Given the description of an element on the screen output the (x, y) to click on. 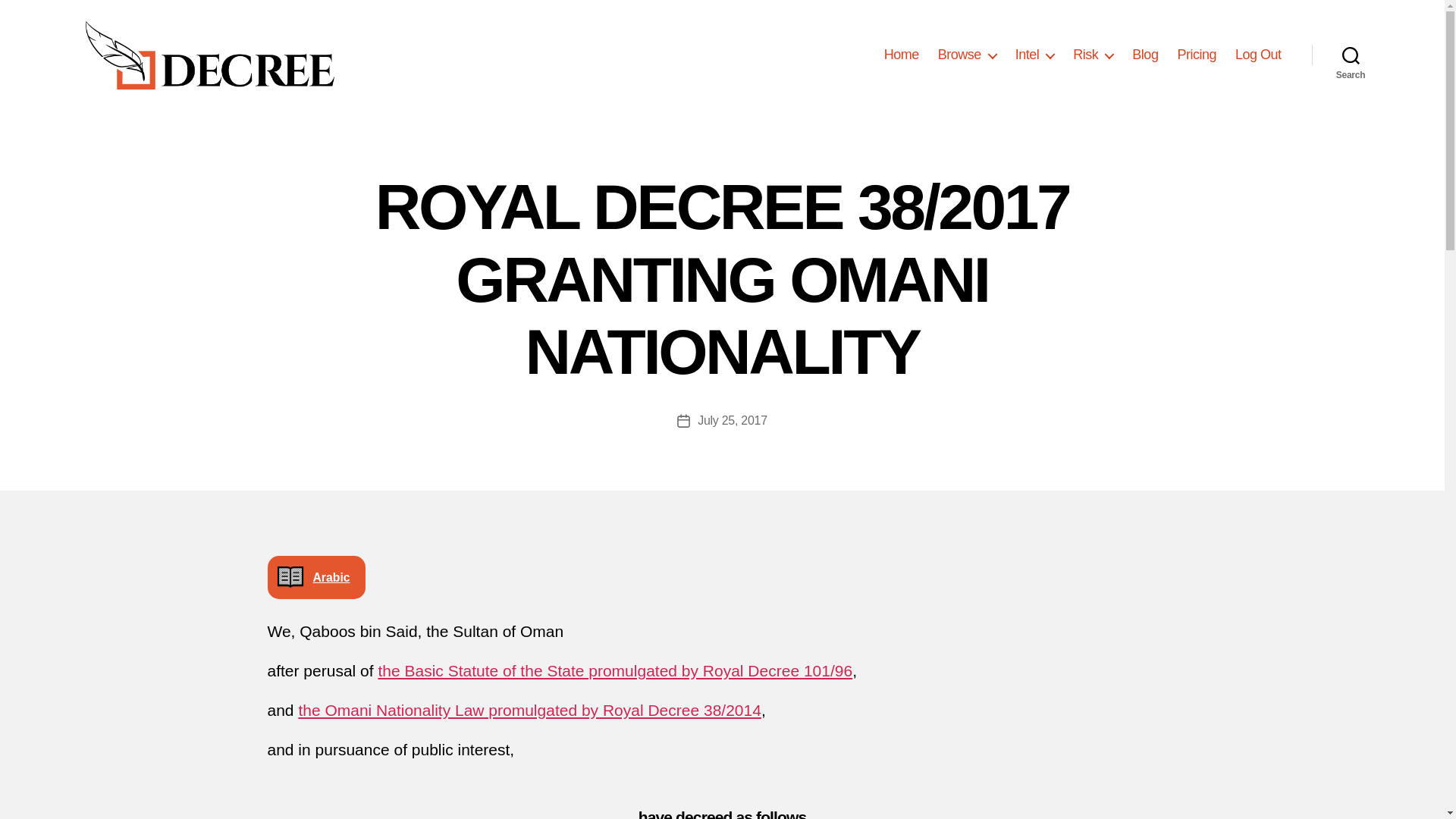
Intel (1034, 54)
Home (900, 54)
Log Out (1257, 54)
Browse (966, 54)
Search (1350, 55)
Pricing (1195, 54)
Risk (1093, 54)
Blog (1144, 54)
